Given the description of an element on the screen output the (x, y) to click on. 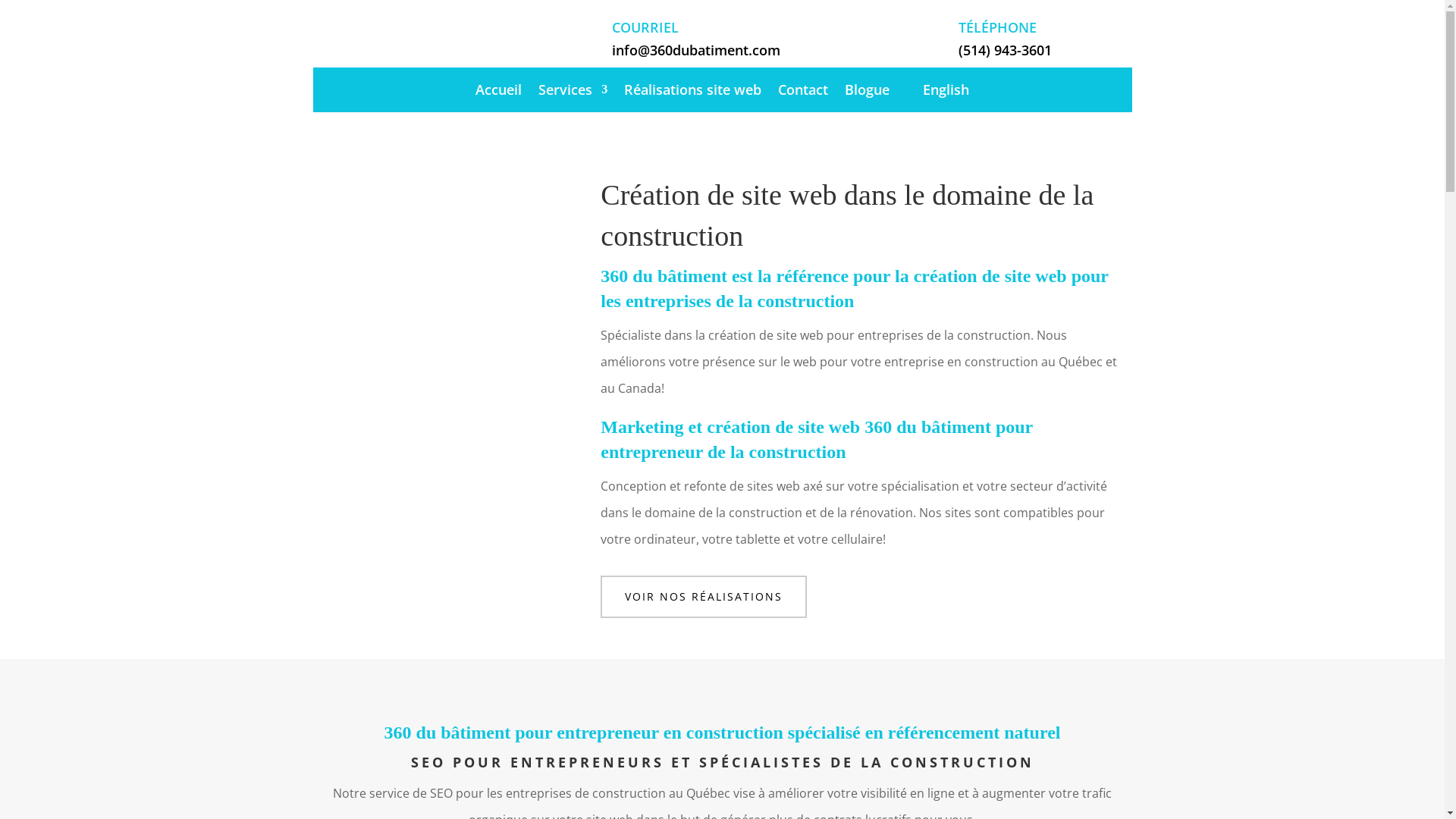
info@360dubatiment.com Element type: text (695, 49)
(514) 943-3601 Element type: text (1004, 49)
Blogue Element type: text (866, 92)
Services Element type: text (572, 92)
Accueil Element type: text (498, 92)
English Element type: text (937, 92)
Contact Element type: text (803, 92)
jay-ee-qcBayvKvghM-unsplash Element type: hover (433, 335)
